Given the description of an element on the screen output the (x, y) to click on. 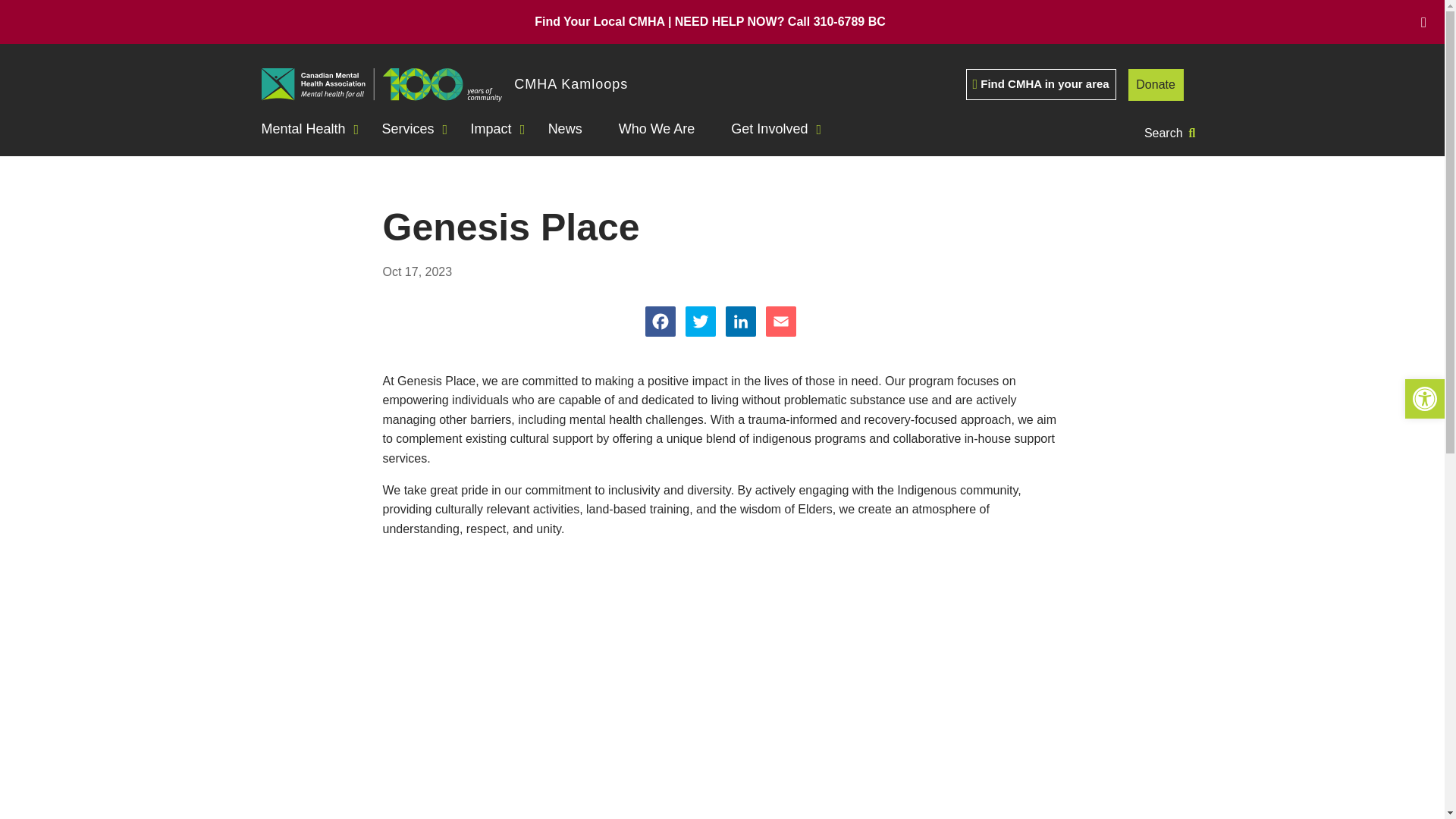
Get Involved (775, 128)
Who We Are (663, 128)
Accessibility Tools (1424, 398)
Mental Health (314, 128)
CMHA Kamloops - Genesis Place (721, 668)
Donate (1155, 84)
News (571, 128)
Impact (496, 128)
Services (413, 128)
Find CMHA in your area (1041, 83)
